Given the description of an element on the screen output the (x, y) to click on. 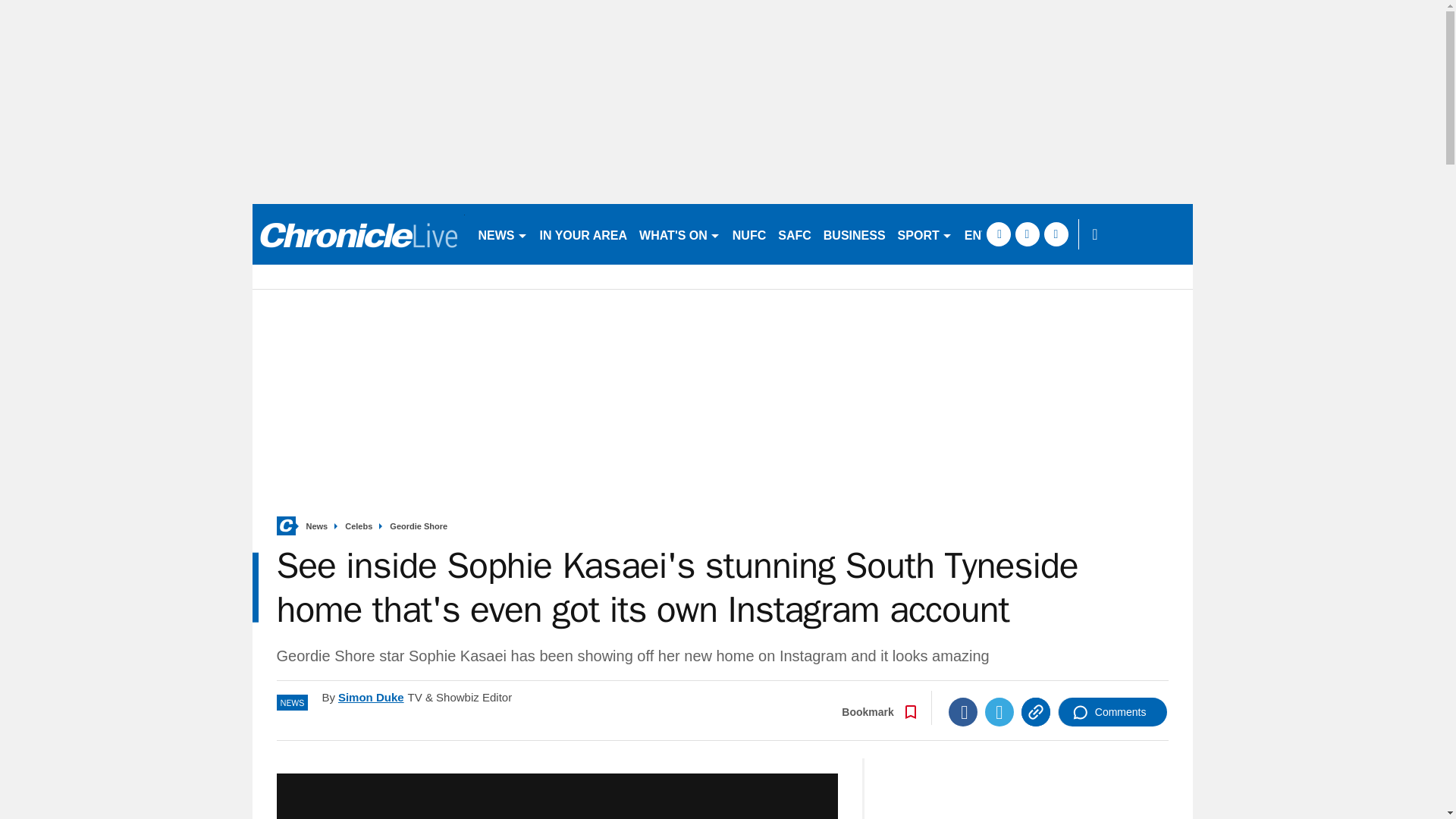
IN YOUR AREA (583, 233)
Comments (1112, 711)
NEWS (501, 233)
Twitter (999, 711)
twitter (1026, 233)
instagram (1055, 233)
SPORT (924, 233)
nechronicle (357, 233)
Facebook (962, 711)
BUSINESS (853, 233)
